Given the description of an element on the screen output the (x, y) to click on. 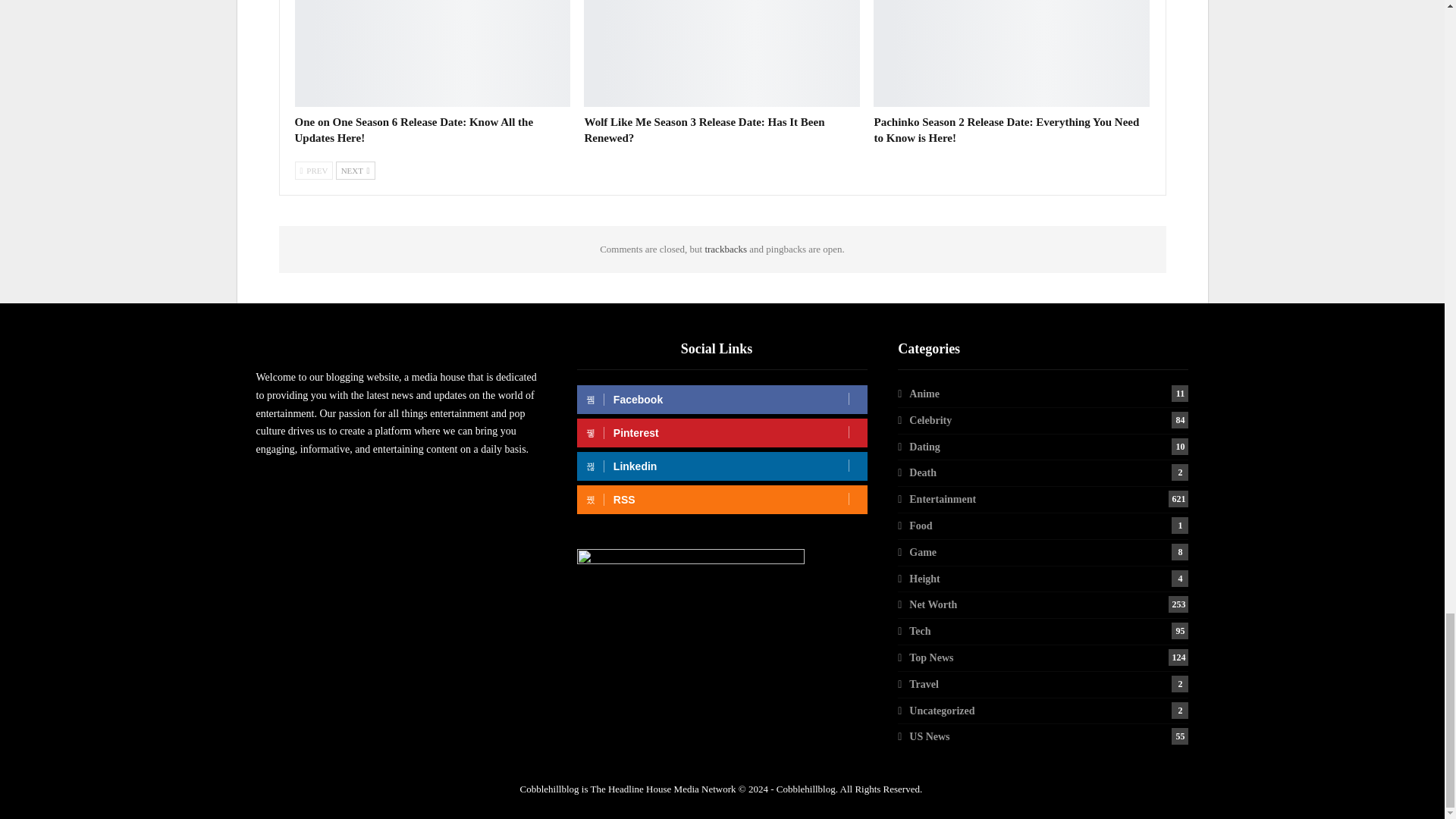
Wolf Like Me Season 3 Release Date: Has It Been Renewed? (721, 53)
One on One Season 6 Release Date: Know All the Updates Here! (413, 130)
Wolf Like Me Season 3 Release Date: Has It Been Renewed? (703, 130)
One on One Season 6 Release Date: Know All the Updates Here! (432, 53)
